Given the description of an element on the screen output the (x, y) to click on. 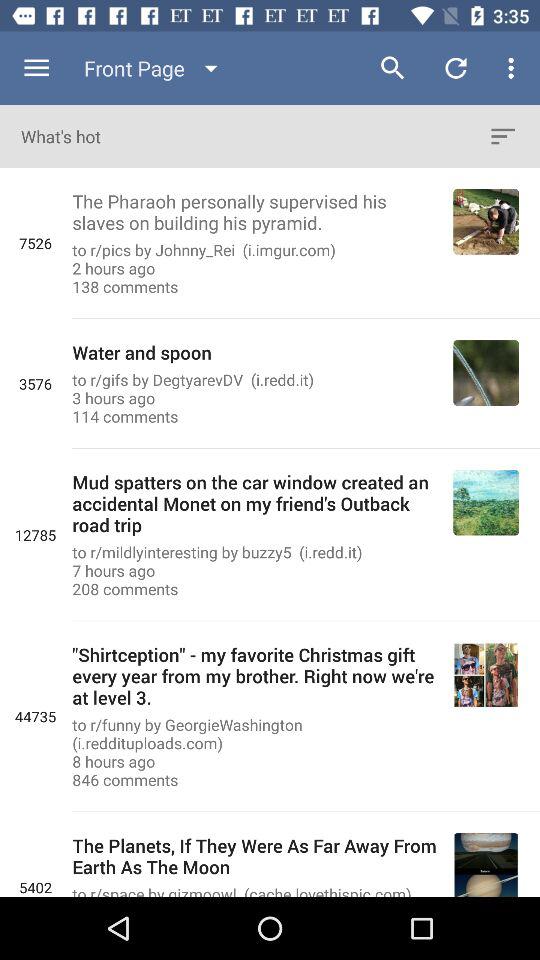
turn on the front page icon (155, 67)
